Given the description of an element on the screen output the (x, y) to click on. 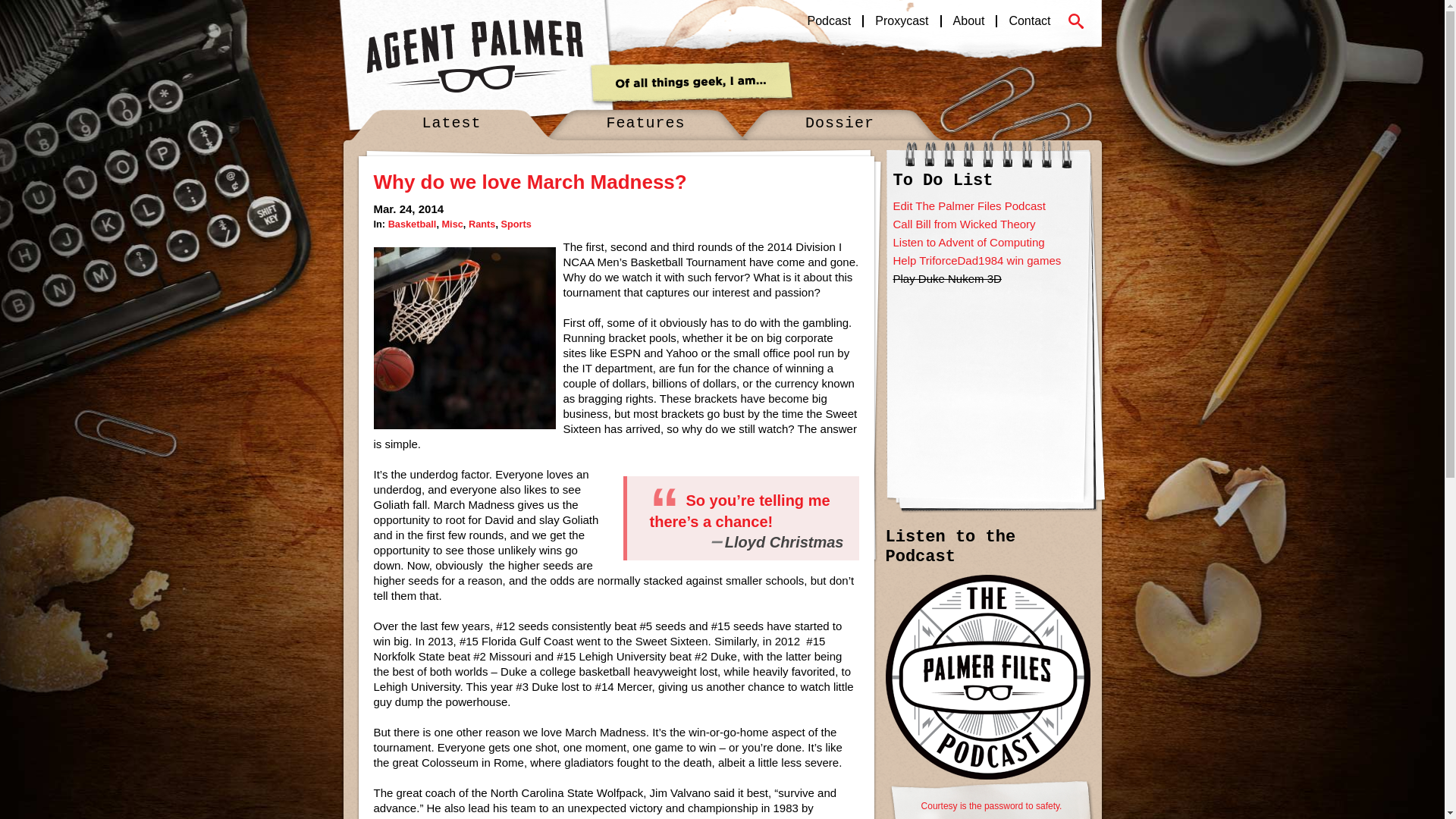
Courtesy is the password to safety. (990, 799)
Podcast (829, 21)
Sports (515, 224)
Edit The Palmer Files Podcast (969, 205)
Rants (481, 224)
Call Bill from Wicked Theory (964, 223)
So you're telling me there's a chance! (739, 510)
Features (646, 124)
Dossier (839, 124)
Listen to Advent of Computing (969, 241)
Advertisement (988, 384)
Courtesy is the password to safety. (990, 799)
Misc (452, 224)
Contact (1028, 21)
About (967, 21)
